Given the description of an element on the screen output the (x, y) to click on. 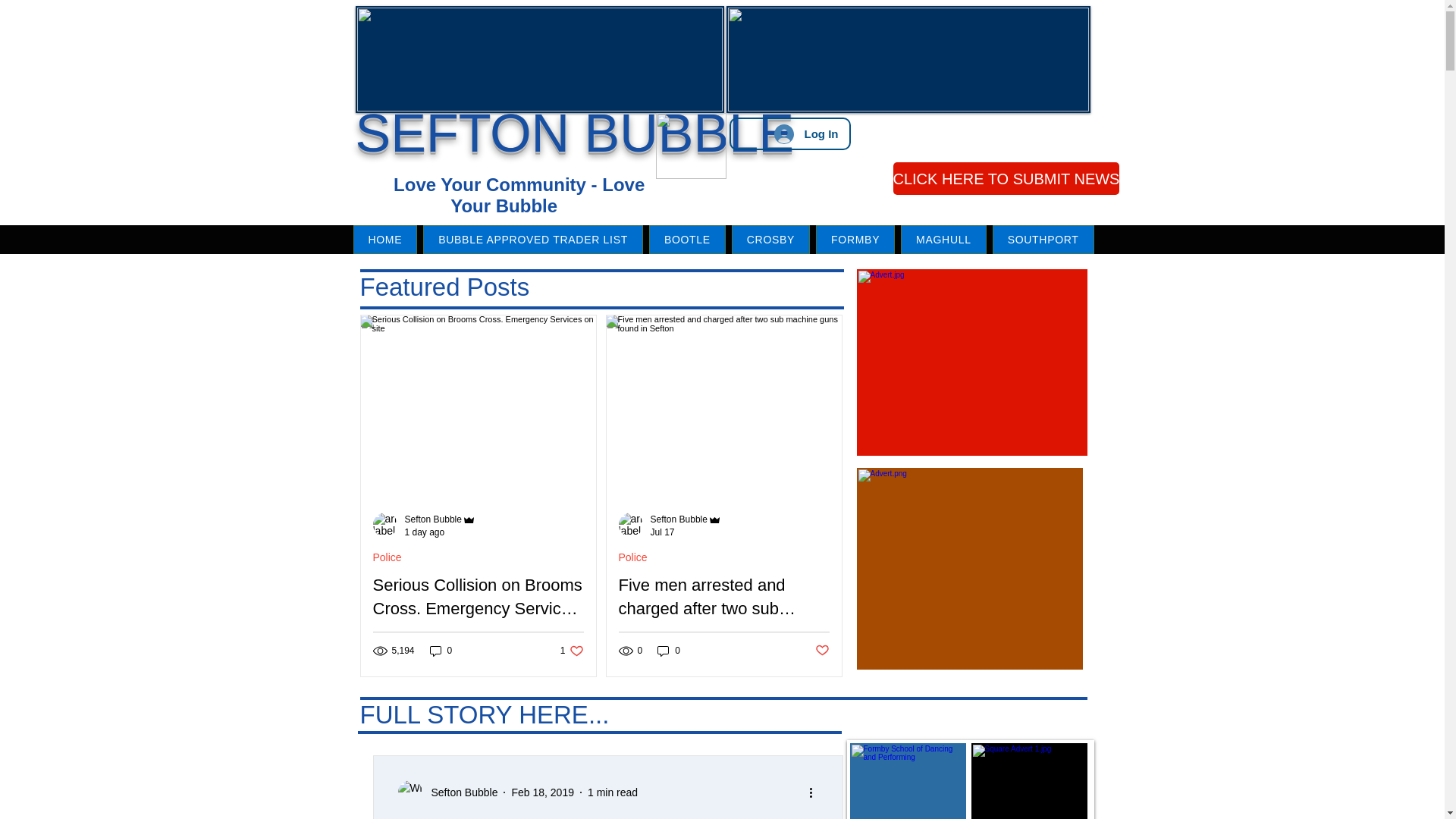
1 min read (612, 791)
0 (668, 650)
Post not marked as liked (820, 650)
MAGHULL (944, 239)
1 day ago (424, 532)
BOOTLE (687, 239)
Sefton Bubble (440, 519)
Feb 18, 2019 (542, 791)
 Love Your Community - Love Your Bubble (571, 650)
Sefton Bubble (516, 195)
Sefton Bubble Logo...jpg (459, 791)
BUBBLE APPROVED TRADER LIST (690, 146)
Police (533, 239)
